Given the description of an element on the screen output the (x, y) to click on. 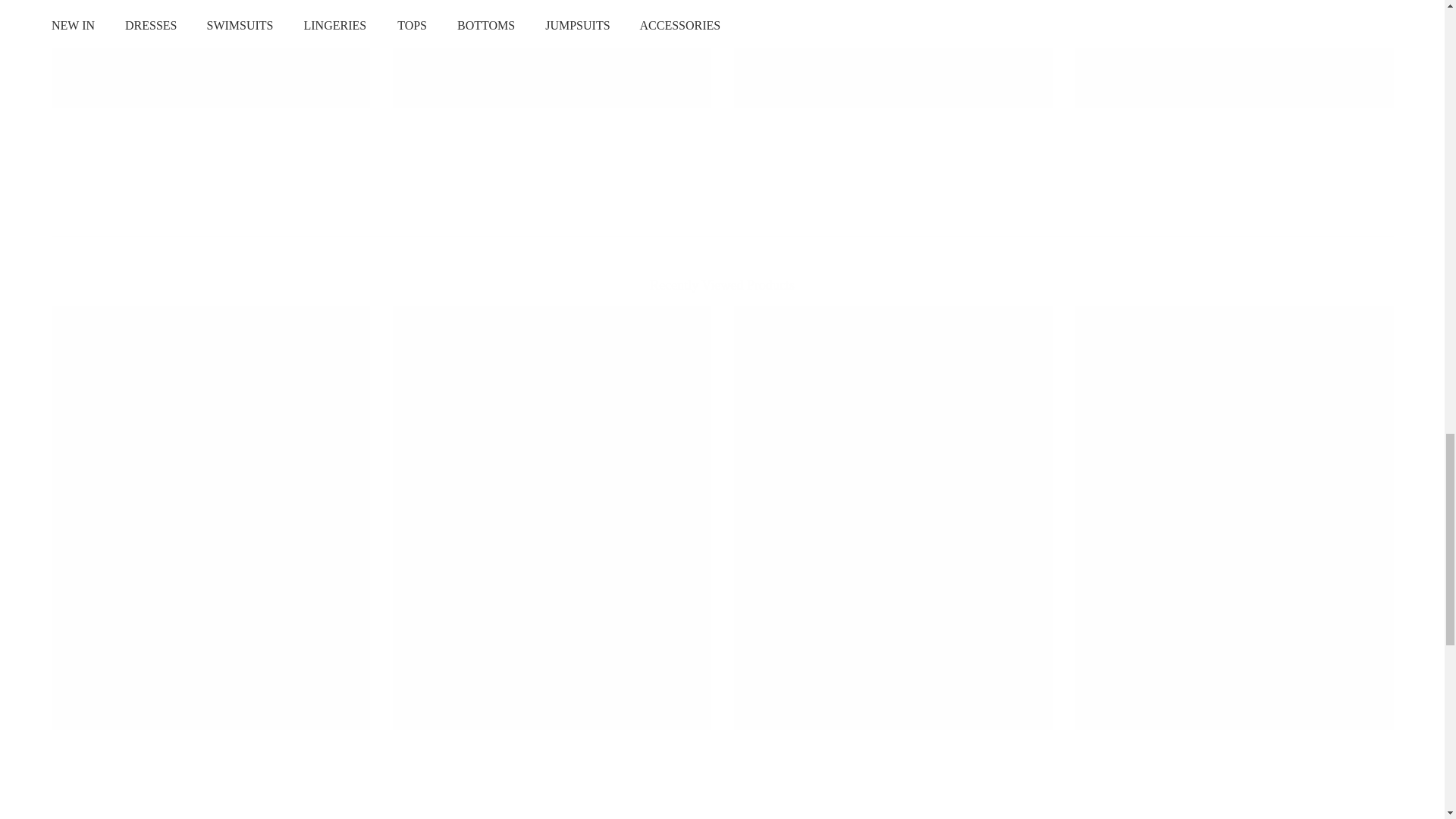
Recently Viewed Products (721, 284)
